Given the description of an element on the screen output the (x, y) to click on. 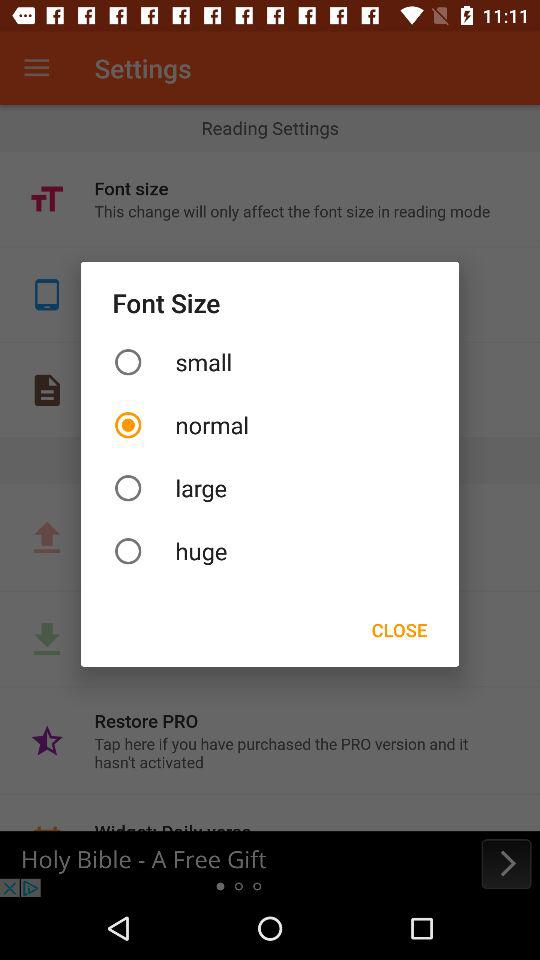
select the item below normal item (270, 487)
